Given the description of an element on the screen output the (x, y) to click on. 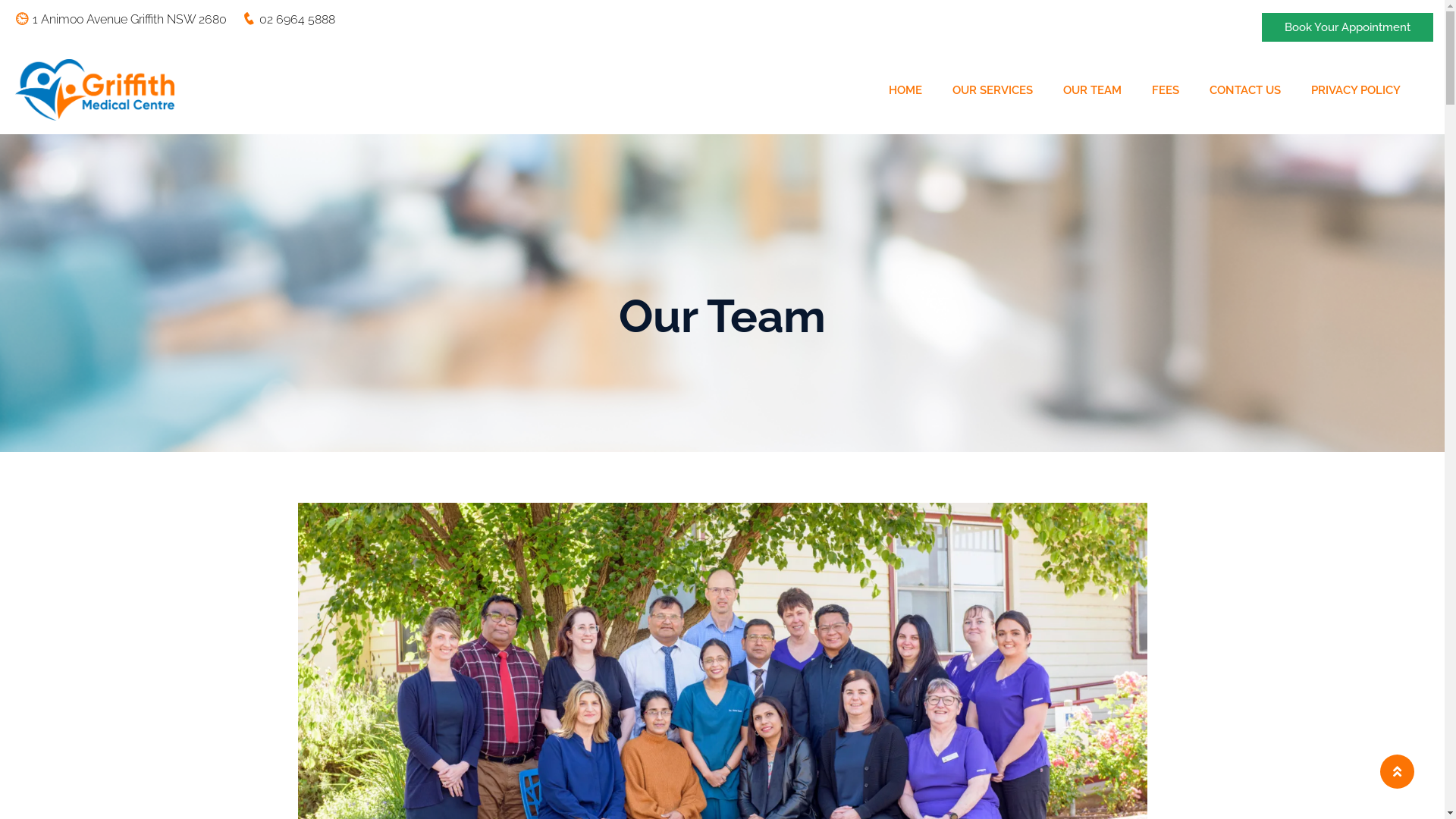
FEES Element type: text (1165, 90)
OUR SERVICES Element type: text (992, 90)
OUR TEAM Element type: text (1092, 90)
PRIVACY POLICY Element type: text (1355, 90)
HOME Element type: text (905, 90)
CONTACT US Element type: text (1244, 90)
Book Your Appointment Element type: text (1347, 26)
02 6964 5888 Element type: text (286, 19)
